Given the description of an element on the screen output the (x, y) to click on. 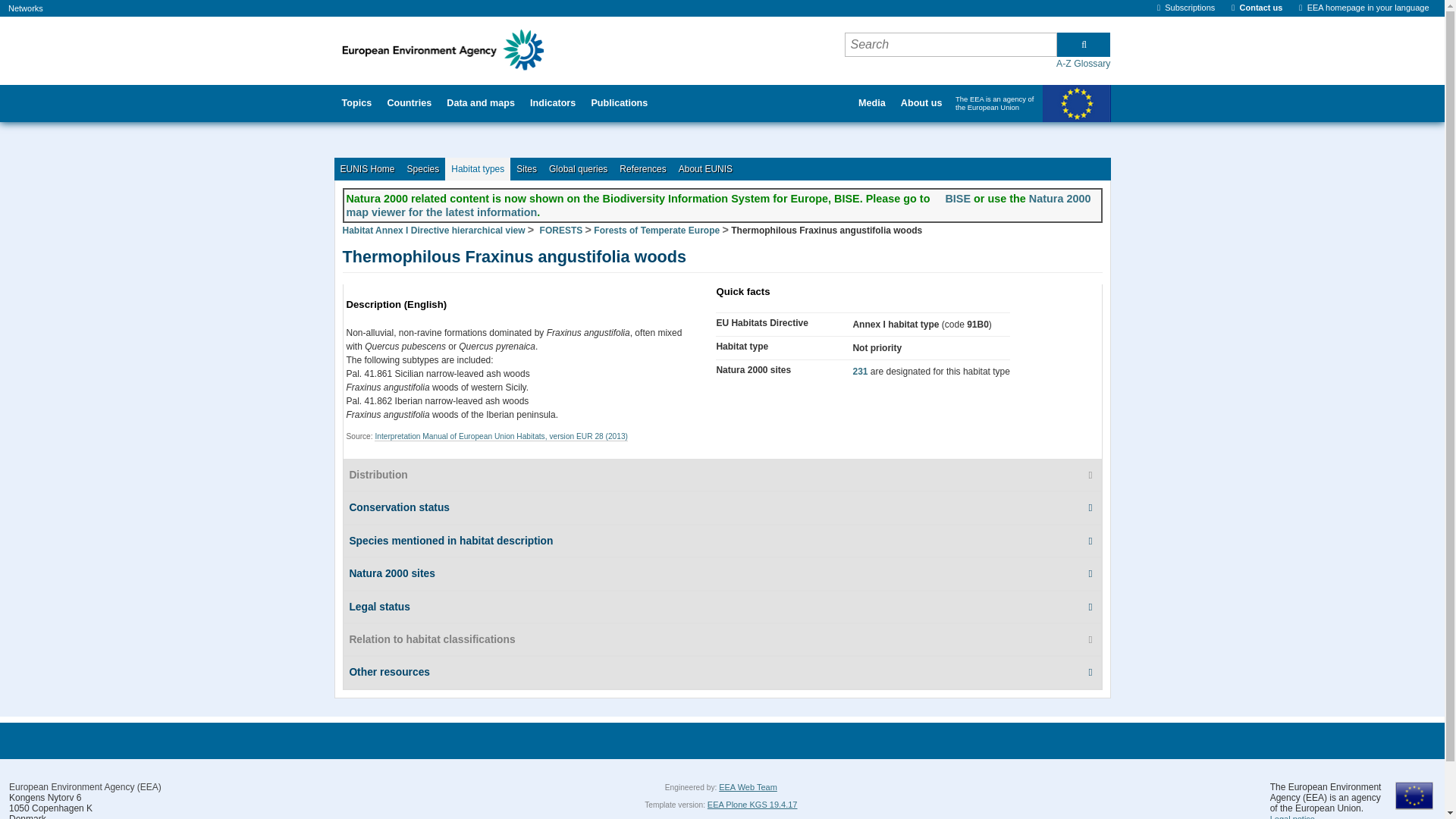
Networks (25, 8)
EEA homepage in your language (1363, 7)
EEA homepage in your language (1363, 7)
Contact us (1256, 7)
Subscriptions (1185, 7)
Contact us (1256, 7)
Subscriptions (1185, 7)
